Given the description of an element on the screen output the (x, y) to click on. 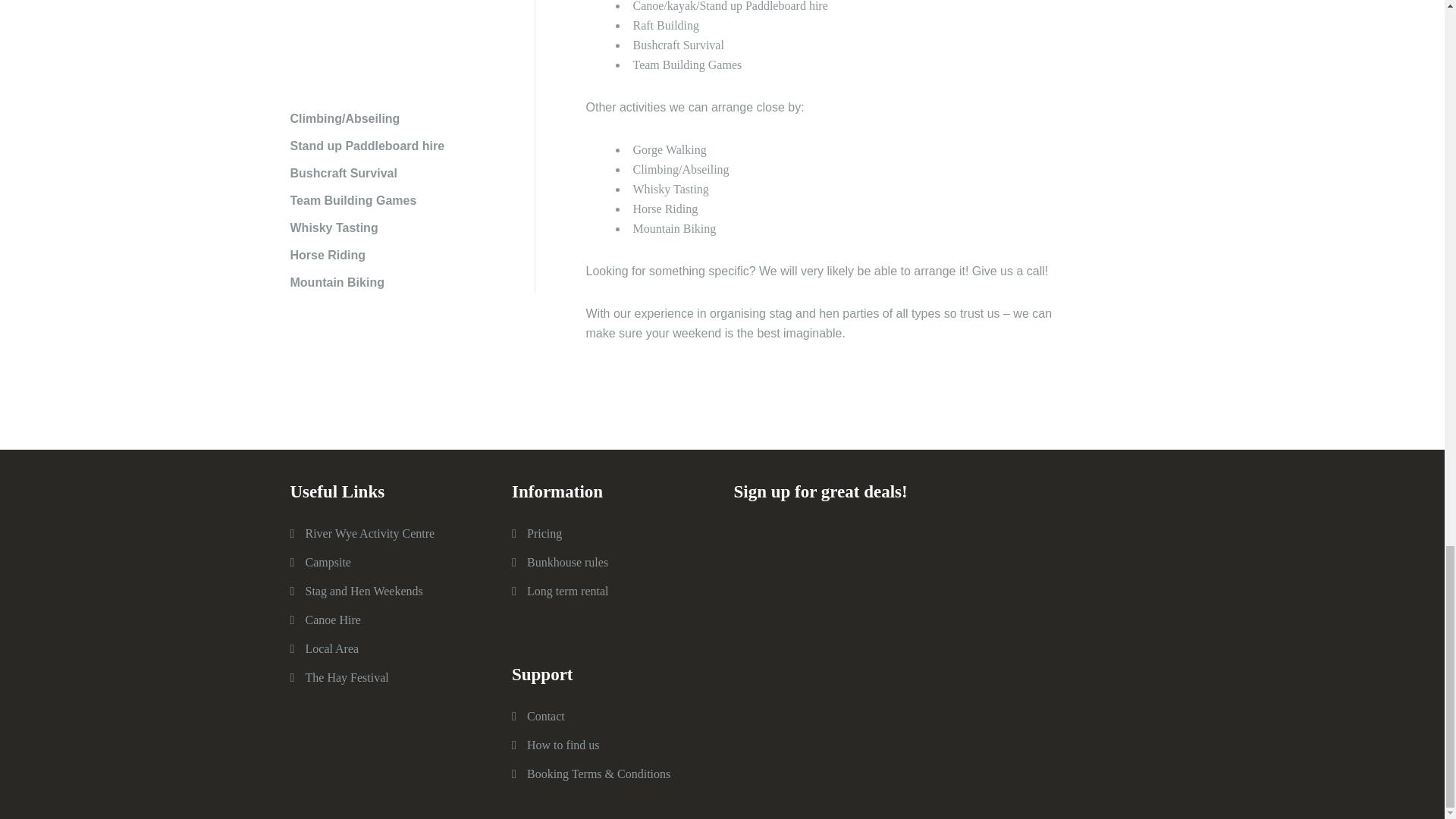
Pricing (544, 533)
How to find us (563, 744)
The Hay Festival (346, 676)
River Wye Activity Centre (368, 533)
Canoe Hire (331, 619)
Stag and Hen Weekends (363, 590)
Local Area (331, 648)
Contact (545, 716)
Campsite (327, 562)
